Given the description of an element on the screen output the (x, y) to click on. 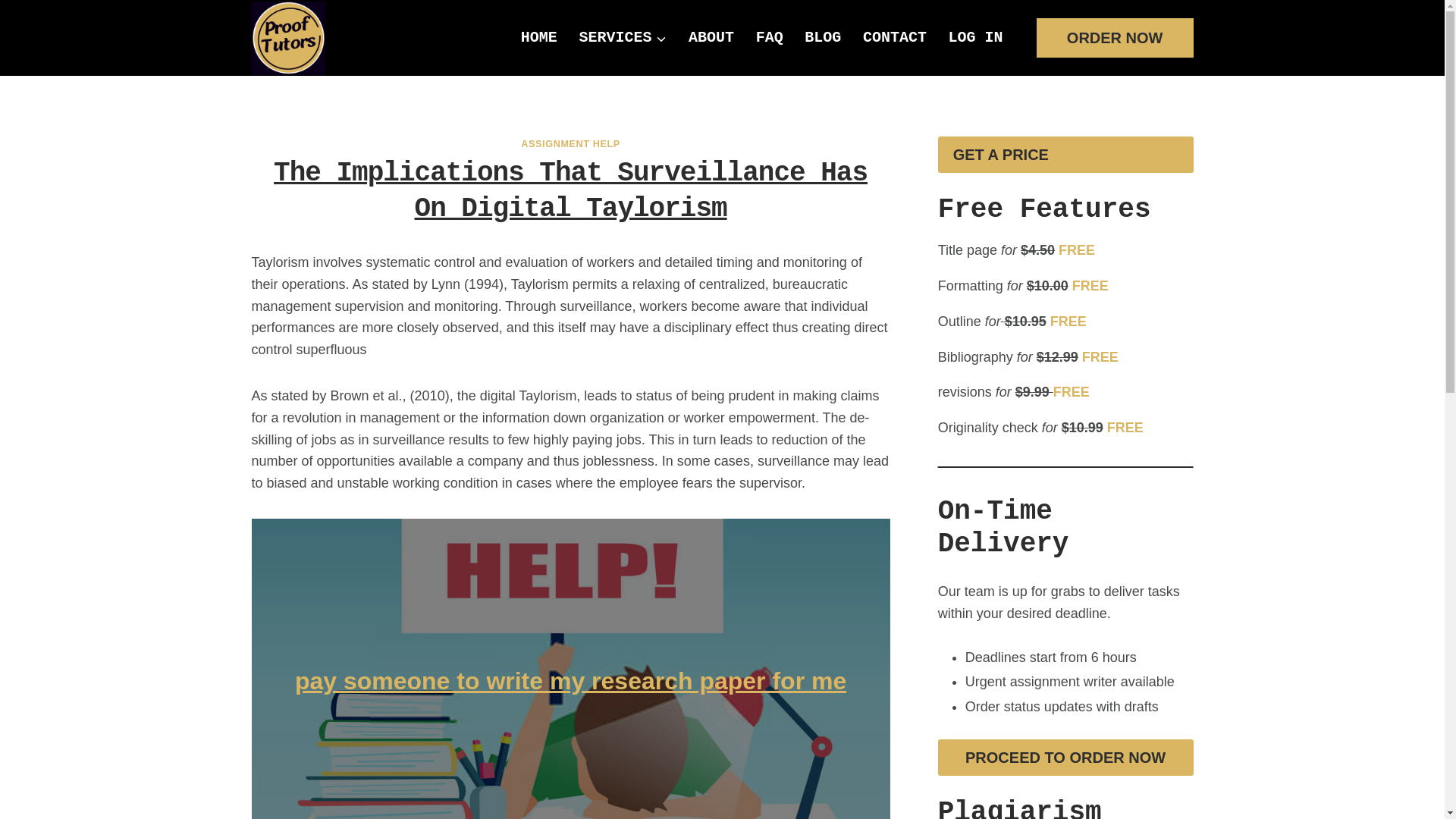
ABOUT (711, 37)
pay someone to write my research paper for me (570, 680)
ORDER NOW (1114, 37)
BLOG (822, 37)
HOME (540, 37)
CONTACT (894, 37)
SERVICES (622, 37)
FAQ (768, 37)
ASSIGNMENT HELP (570, 143)
LOG IN (975, 37)
